Given the description of an element on the screen output the (x, y) to click on. 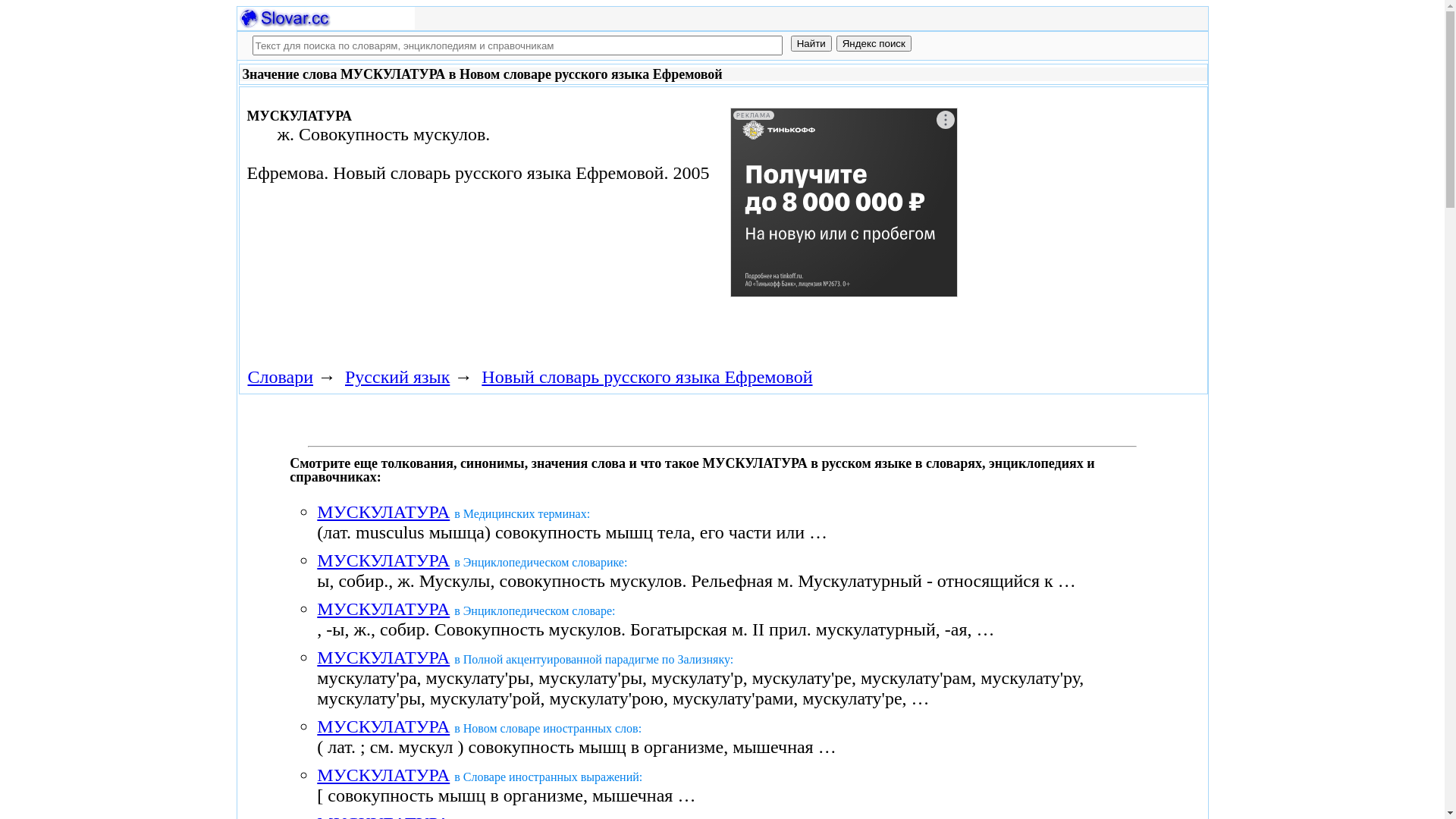
Advertisement Element type: hover (843, 213)
